Given the description of an element on the screen output the (x, y) to click on. 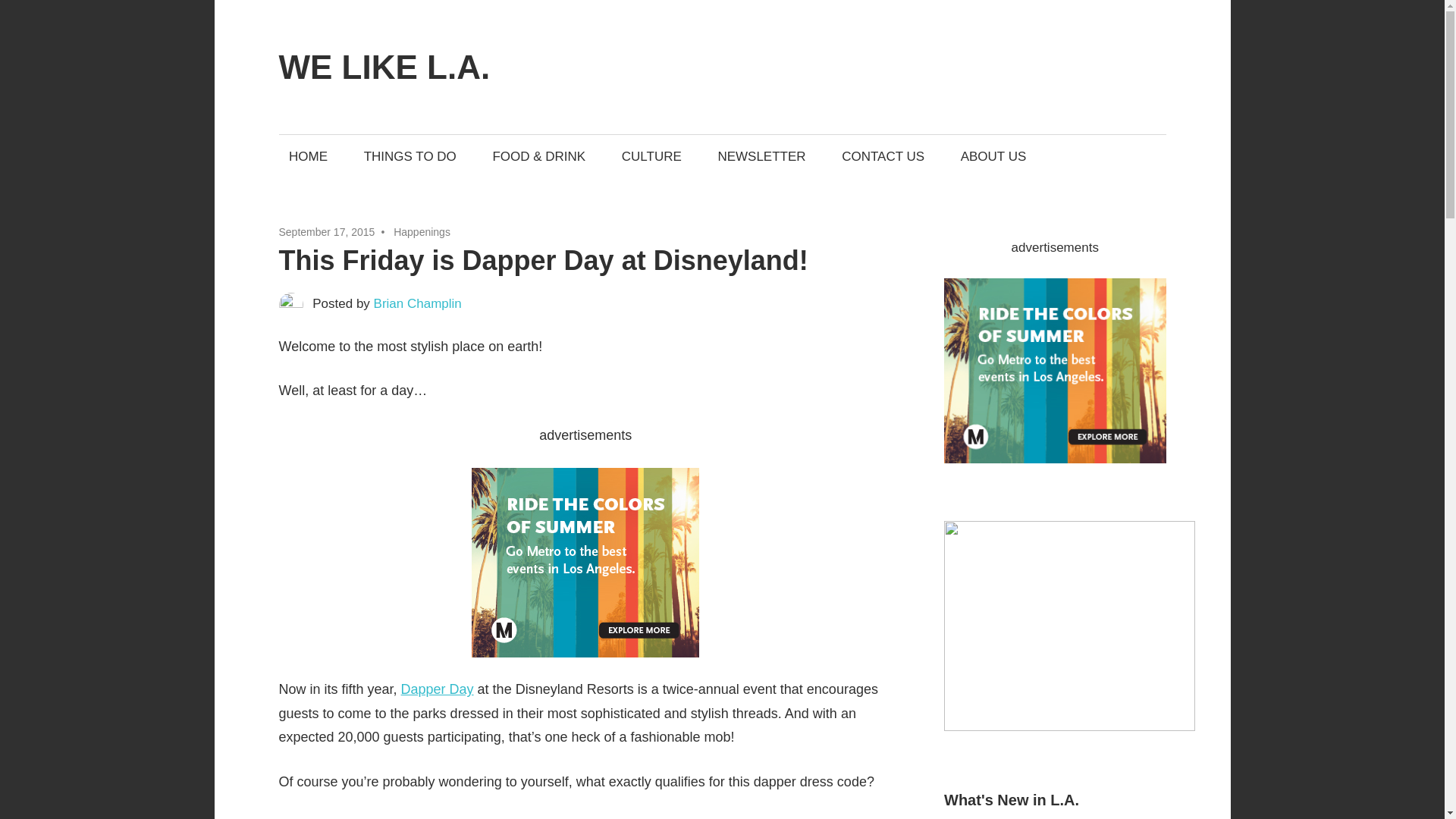
7:47 am (327, 232)
HOME (308, 156)
Brian Champlin (417, 303)
CULTURE (651, 156)
Happenings (421, 232)
ABOUT US (993, 156)
View all posts by Brian Champlin (417, 303)
NEWSLETTER (761, 156)
September 17, 2015 (327, 232)
CONTACT US (882, 156)
